Given the description of an element on the screen output the (x, y) to click on. 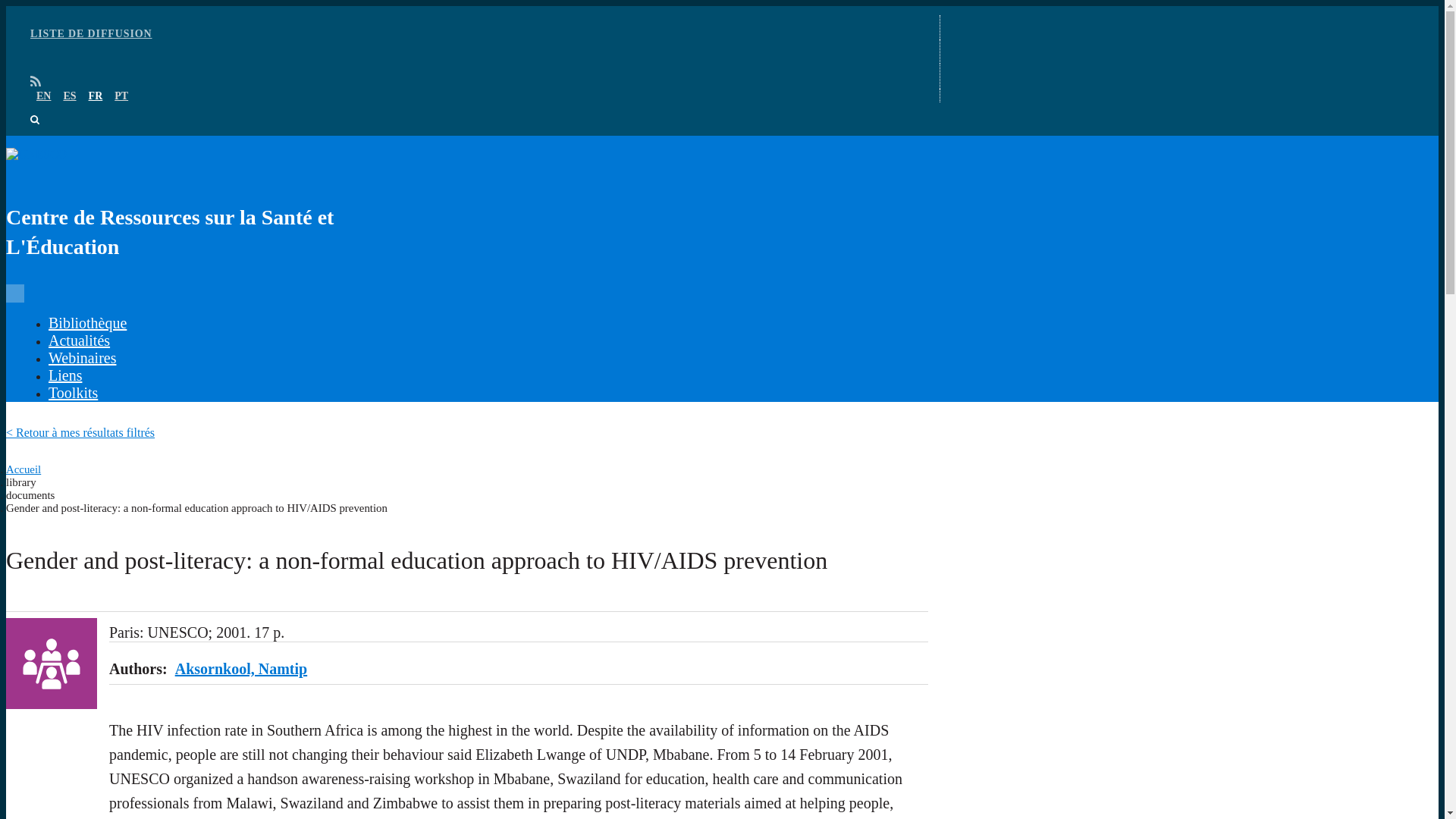
Aksornkool, Namtip (240, 668)
LISTE DE DIFFUSION (91, 33)
PT (121, 95)
ES (68, 95)
Accueil (22, 469)
FR (95, 95)
Webinaires (82, 357)
Aller au contenu principal (722, 7)
EN (43, 95)
Toolkits (72, 392)
Liens (64, 375)
